Given the description of an element on the screen output the (x, y) to click on. 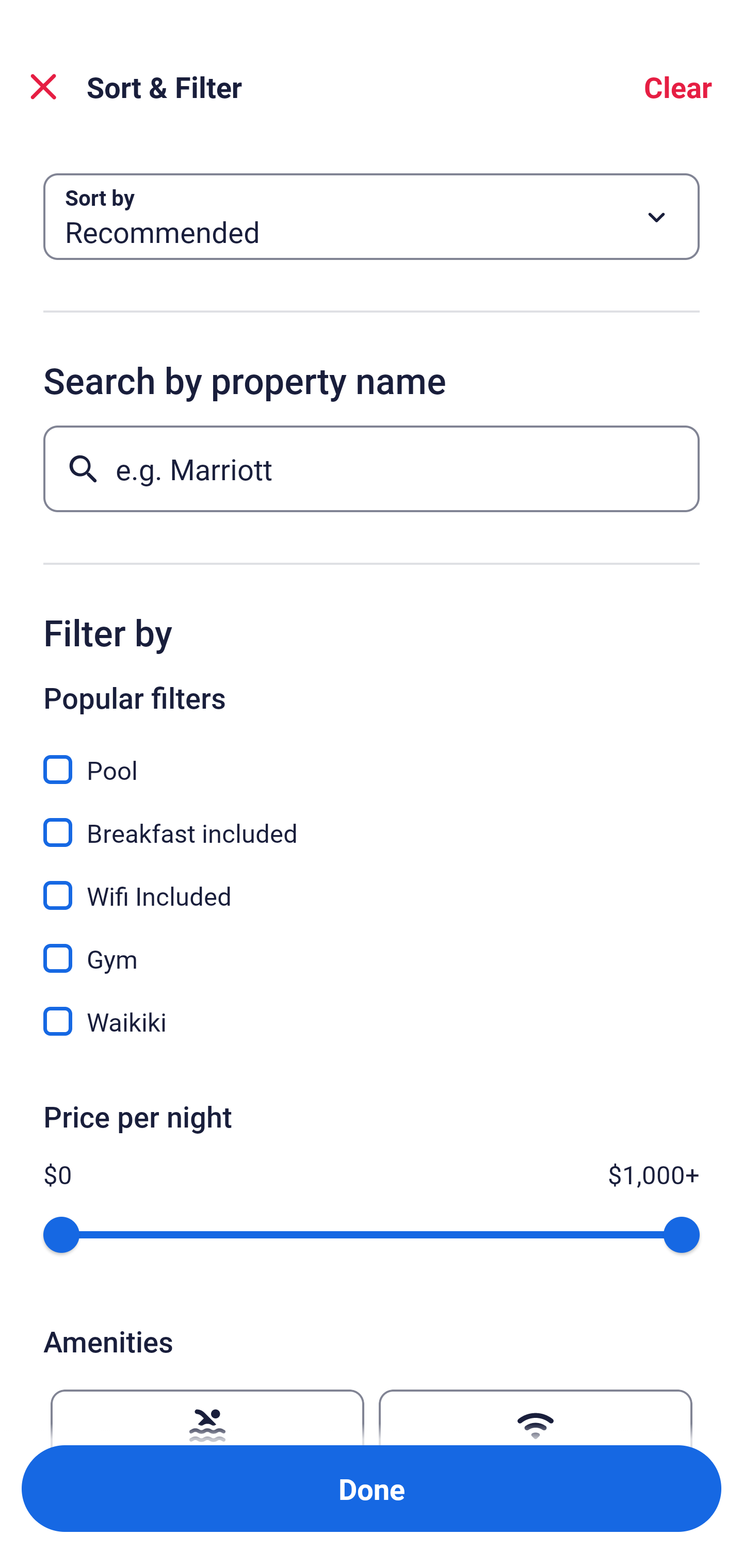
Close Sort and Filter (43, 86)
Clear (677, 86)
Sort by Button Recommended (371, 217)
e.g. Marriott Button (371, 468)
Pool, Pool (371, 757)
Breakfast included, Breakfast included (371, 821)
Wifi Included, Wifi Included (371, 883)
Gym, Gym (371, 946)
Waikiki, Waikiki (371, 1021)
Apply and close Sort and Filter Done (371, 1488)
